Given the description of an element on the screen output the (x, y) to click on. 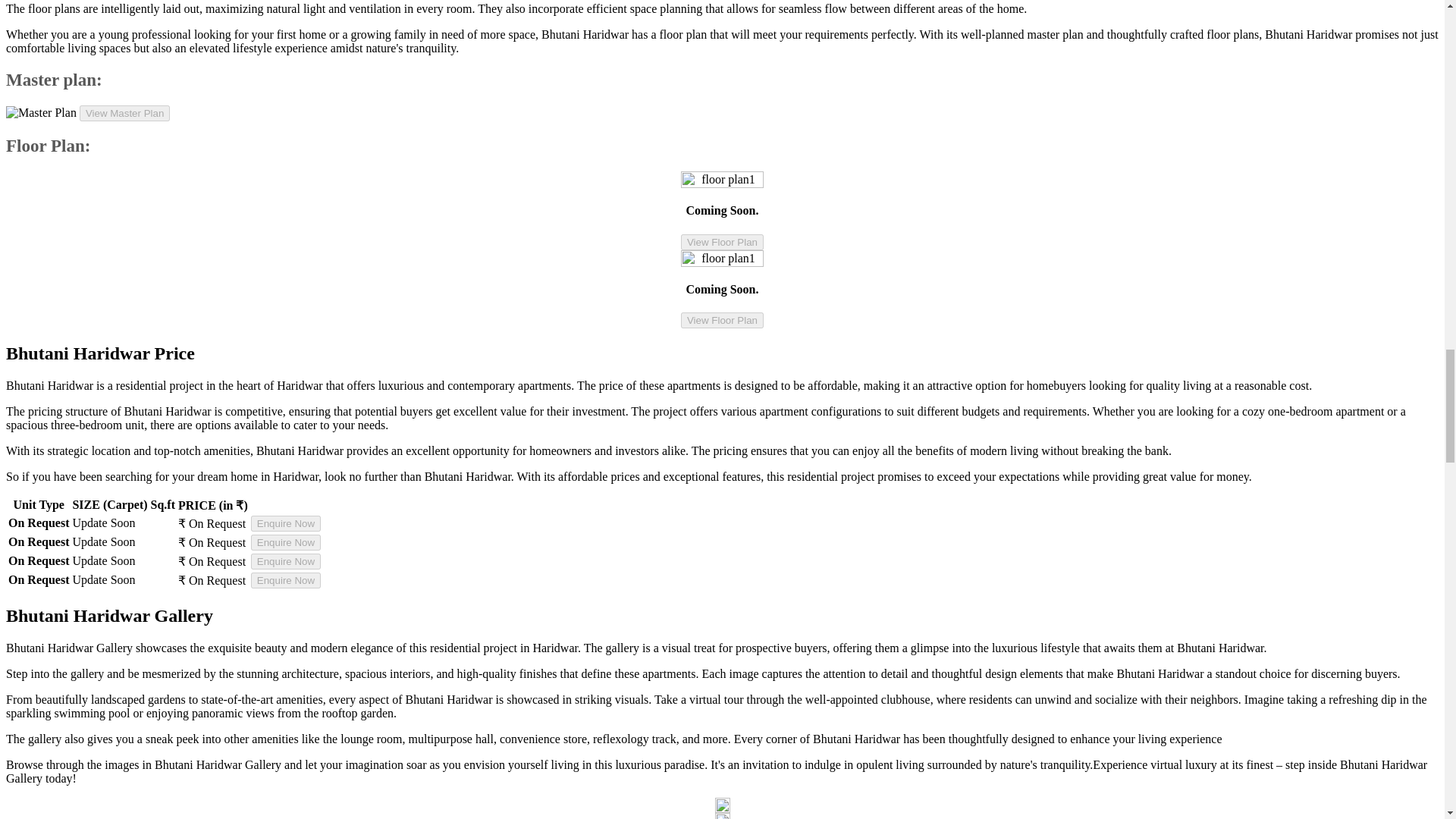
Enquire Now (285, 523)
View Master Plan (125, 113)
View Floor Plan (721, 320)
Enquire Now (285, 561)
View Floor Plan (721, 242)
Enquire Now (285, 542)
Enquire Now (285, 580)
